Given the description of an element on the screen output the (x, y) to click on. 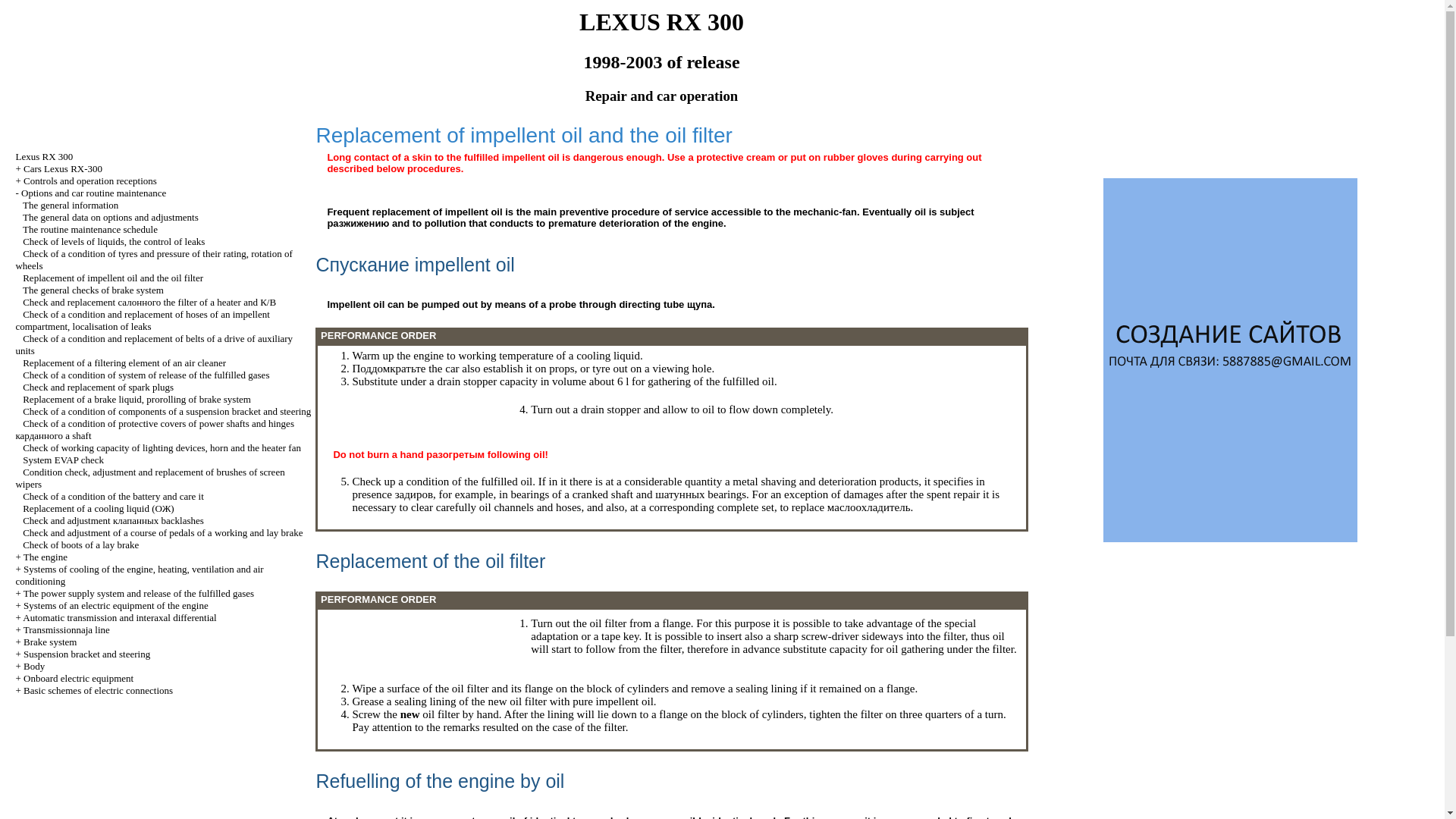
Check of levels of liquids, the control of leaks (114, 241)
The engine (44, 556)
Replacement of impellent oil and the oil filter (113, 277)
Onboard electric equipment (78, 677)
Check of boots of a lay brake (80, 544)
Options and car routine maintenance (93, 193)
The power supply system and release of the fulfilled gases (138, 593)
Cars Lexus RX-300 (62, 168)
Controls and operation receptions (90, 180)
